Given the description of an element on the screen output the (x, y) to click on. 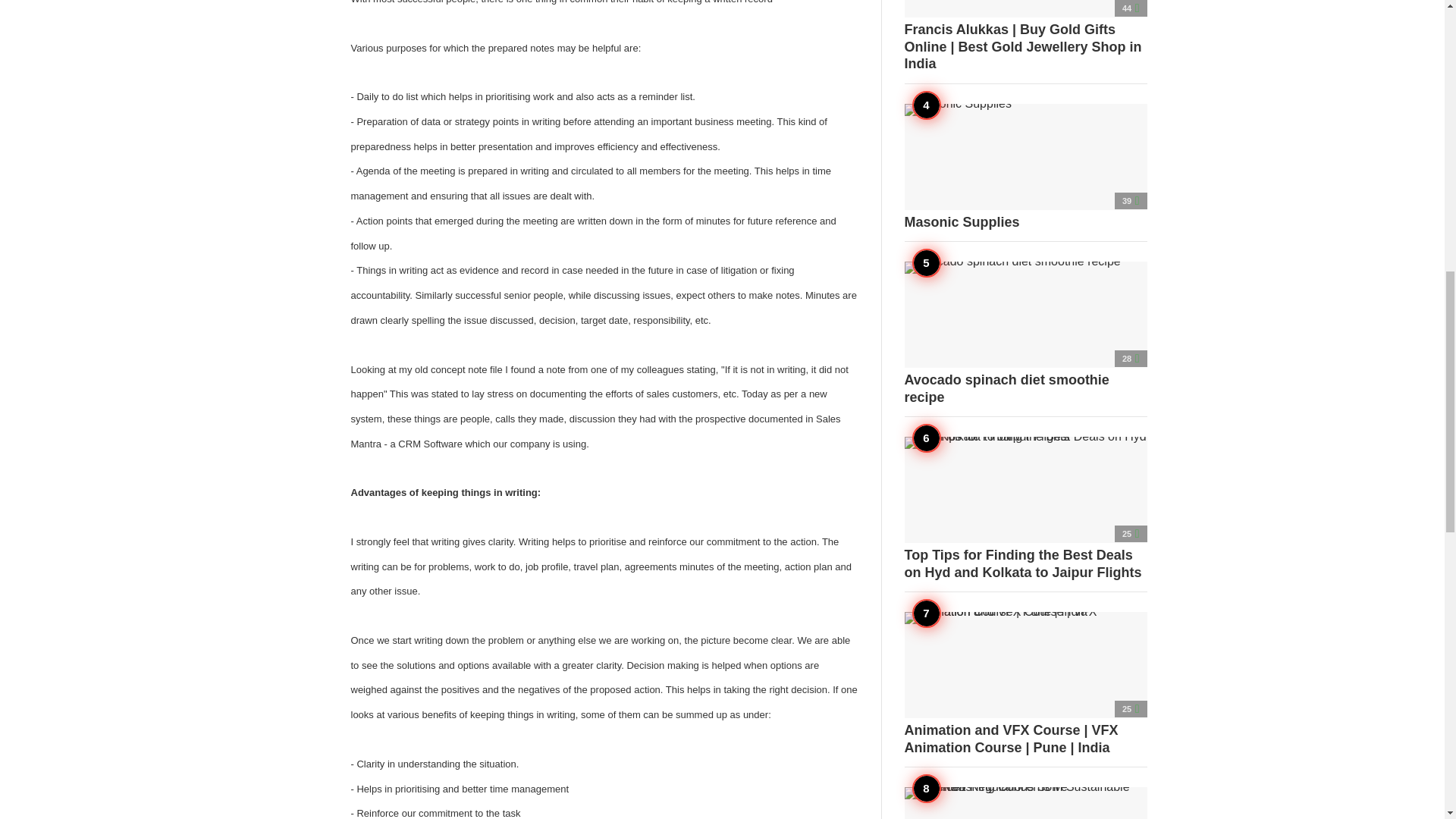
Avocado spinach diet smoothie recipe (1025, 333)
Masonic Supplies (1025, 166)
